Given the description of an element on the screen output the (x, y) to click on. 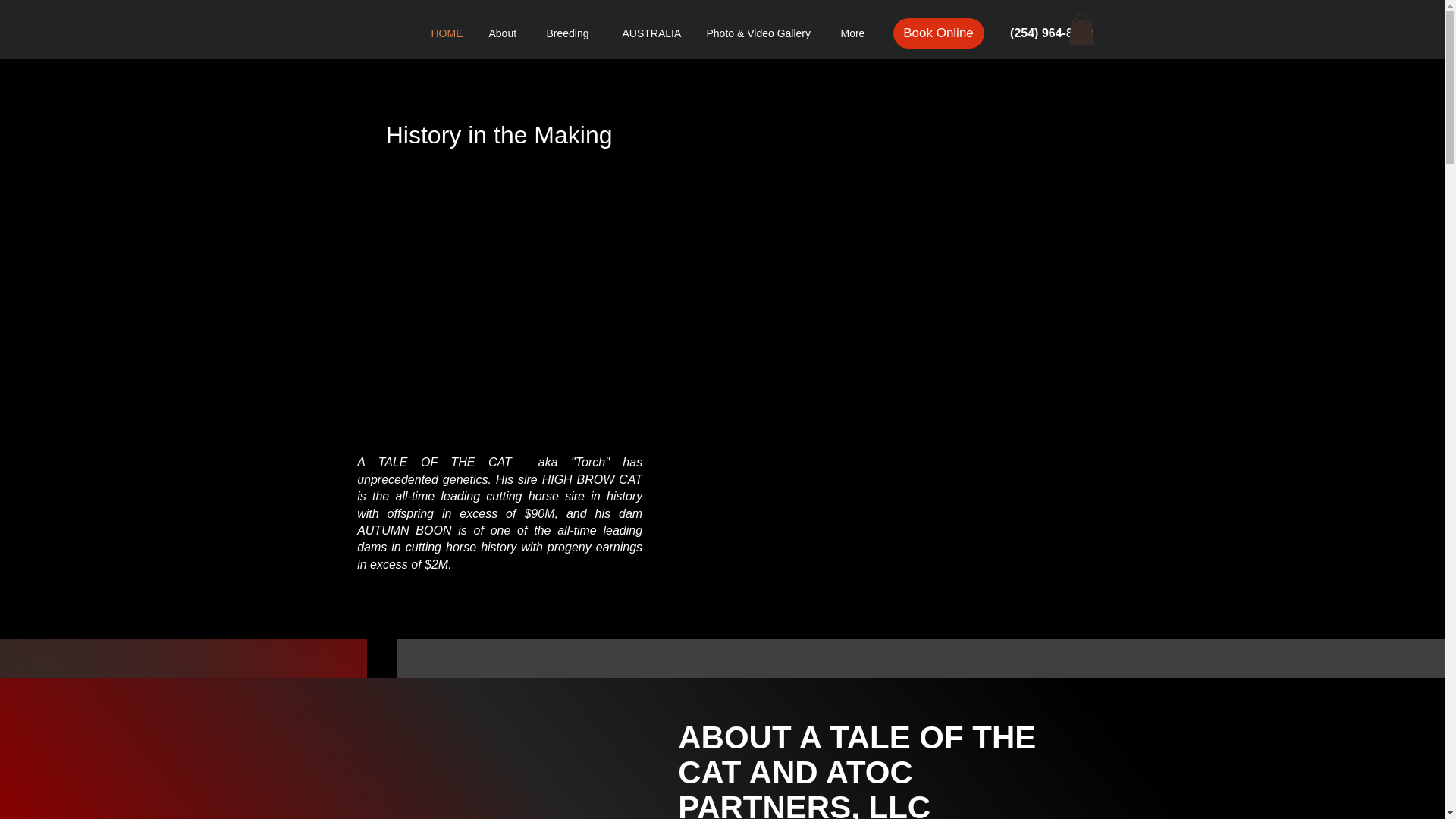
AUSTRALIA (653, 33)
Breeding (573, 33)
About (506, 33)
HOME (448, 33)
Book Online (938, 33)
